Given the description of an element on the screen output the (x, y) to click on. 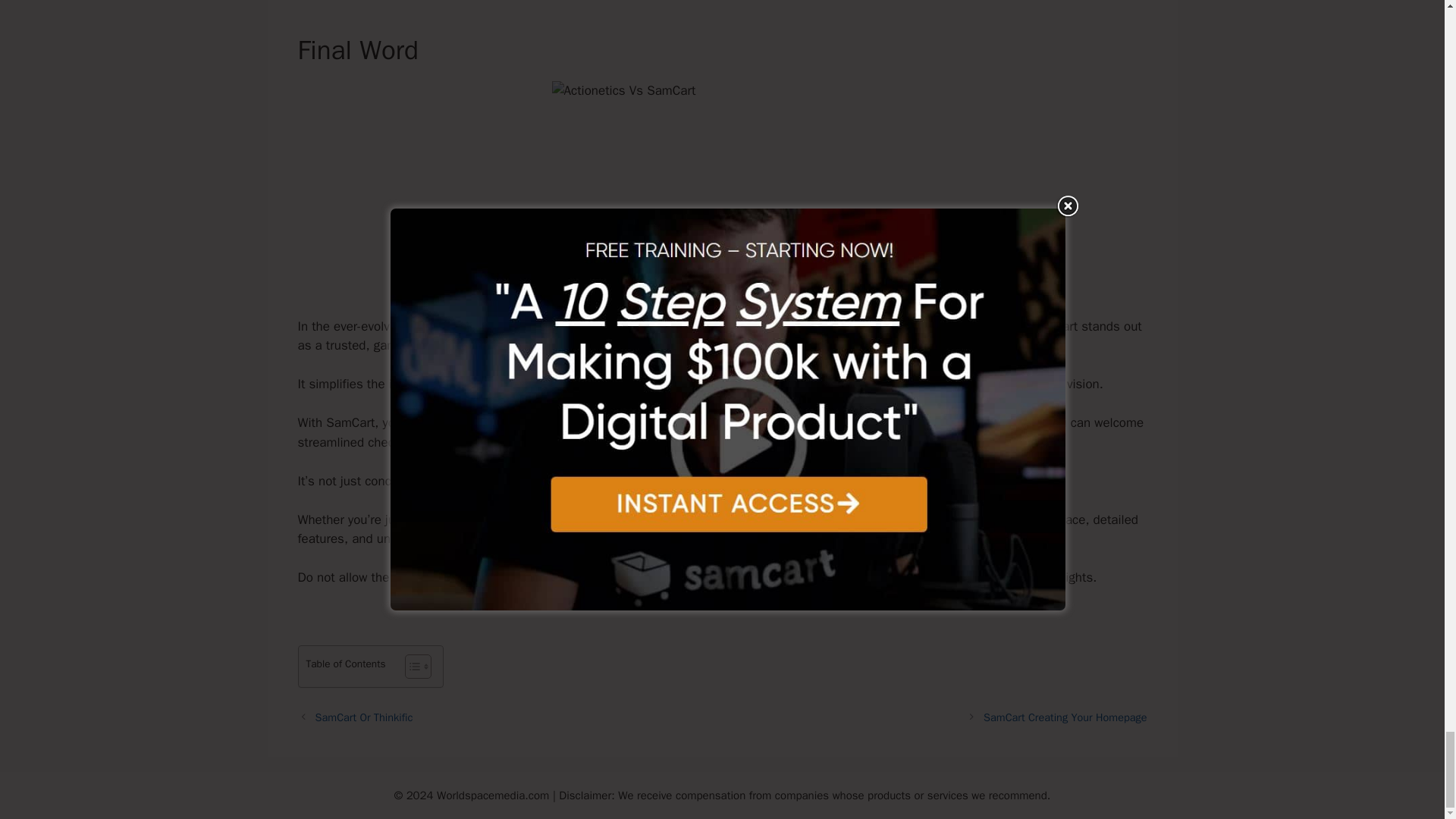
e-commerce landscape (475, 326)
buying experience (764, 480)
SamCart Or Thinkific (364, 716)
